Given the description of an element on the screen output the (x, y) to click on. 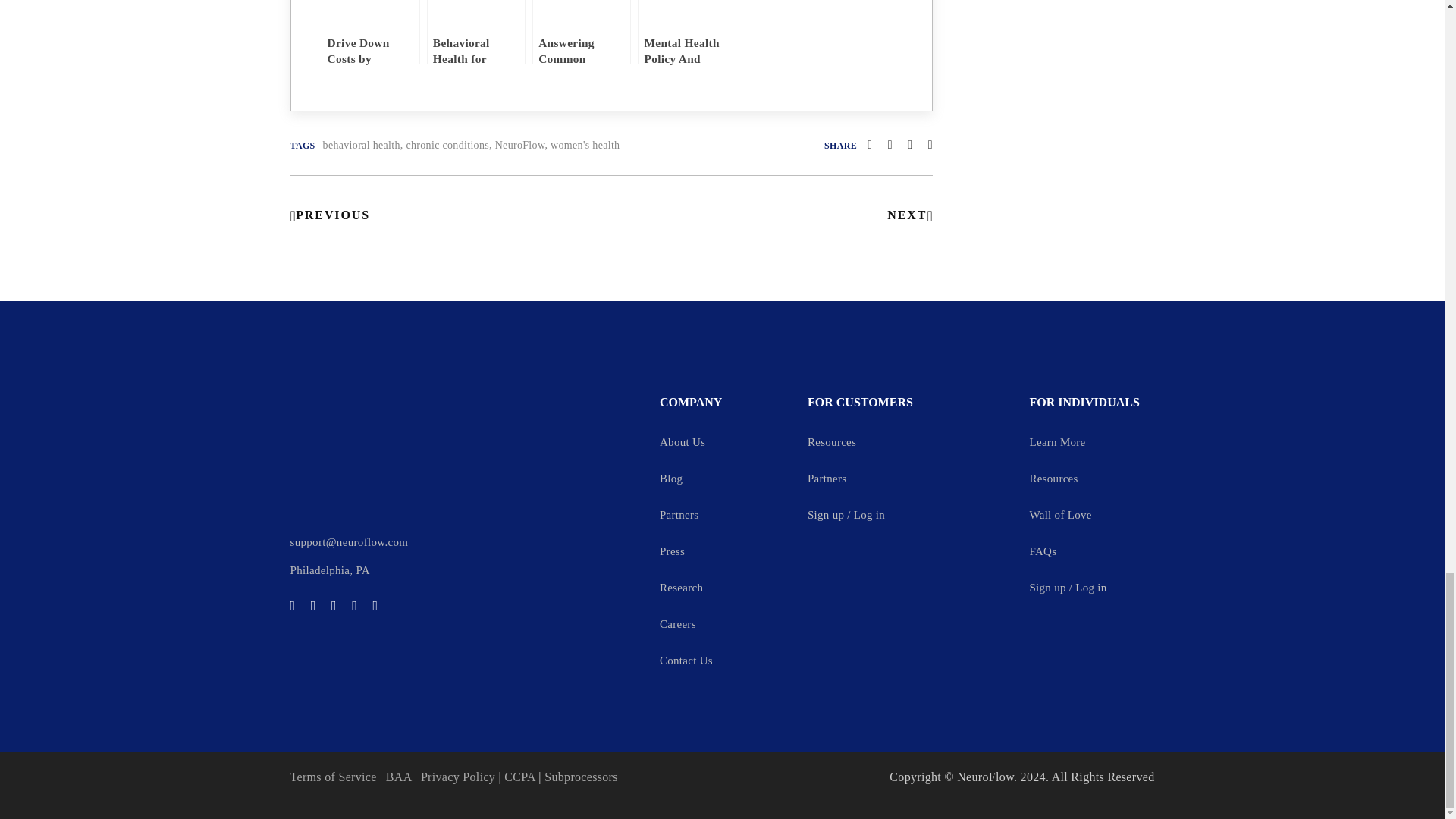
Behavioral Health for Veterans: A Better Path Forward (475, 32)
Drive Down Costs by Ramping Up Behavioral Health (370, 32)
